Given the description of an element on the screen output the (x, y) to click on. 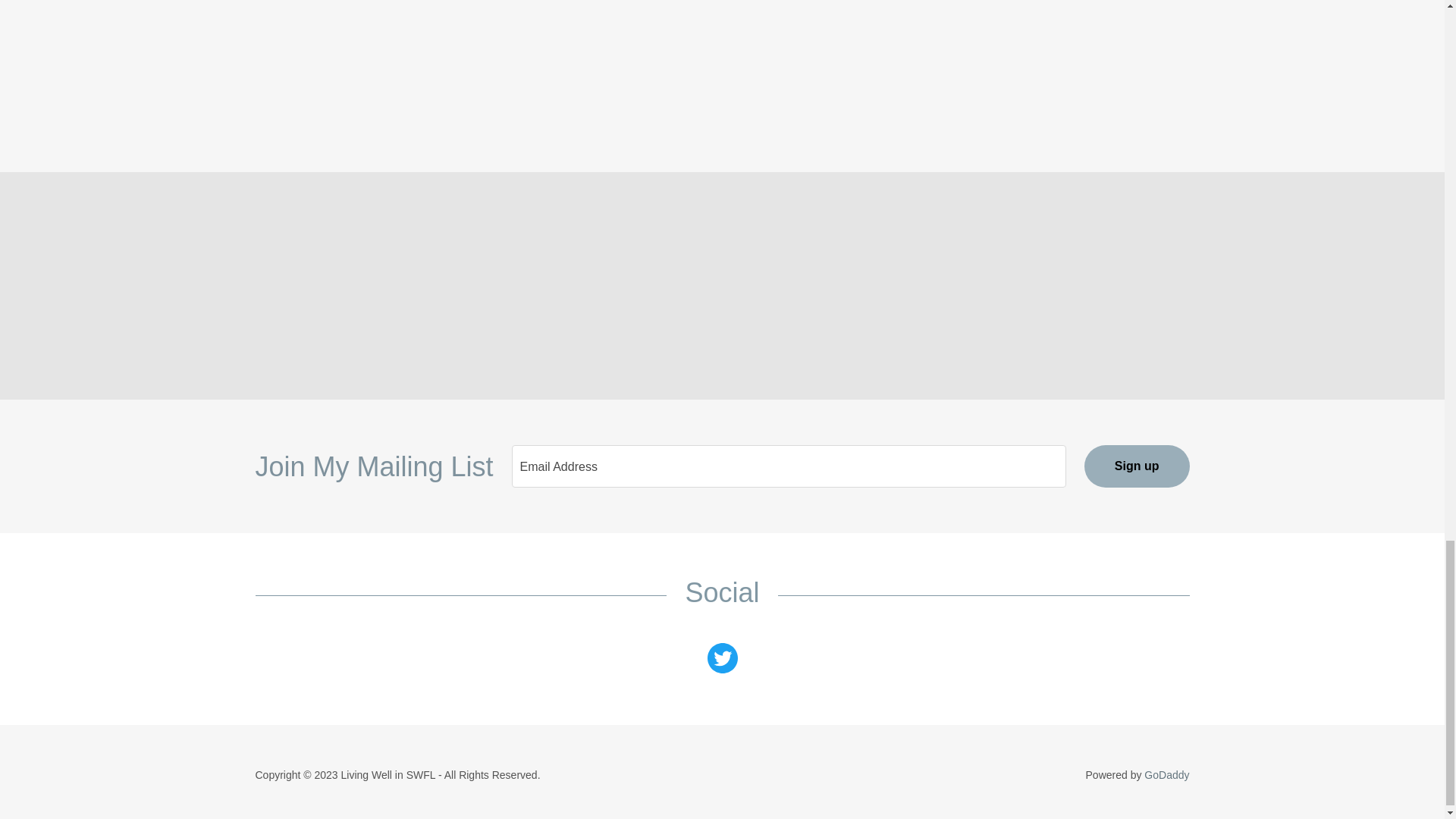
Sign up (1136, 466)
GoDaddy (1166, 775)
